Given the description of an element on the screen output the (x, y) to click on. 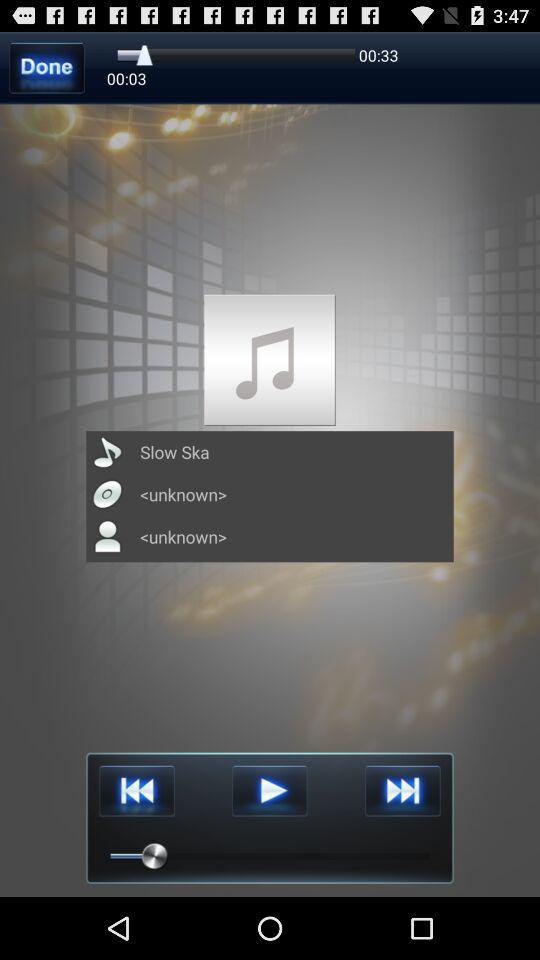
go next track (402, 790)
